Given the description of an element on the screen output the (x, y) to click on. 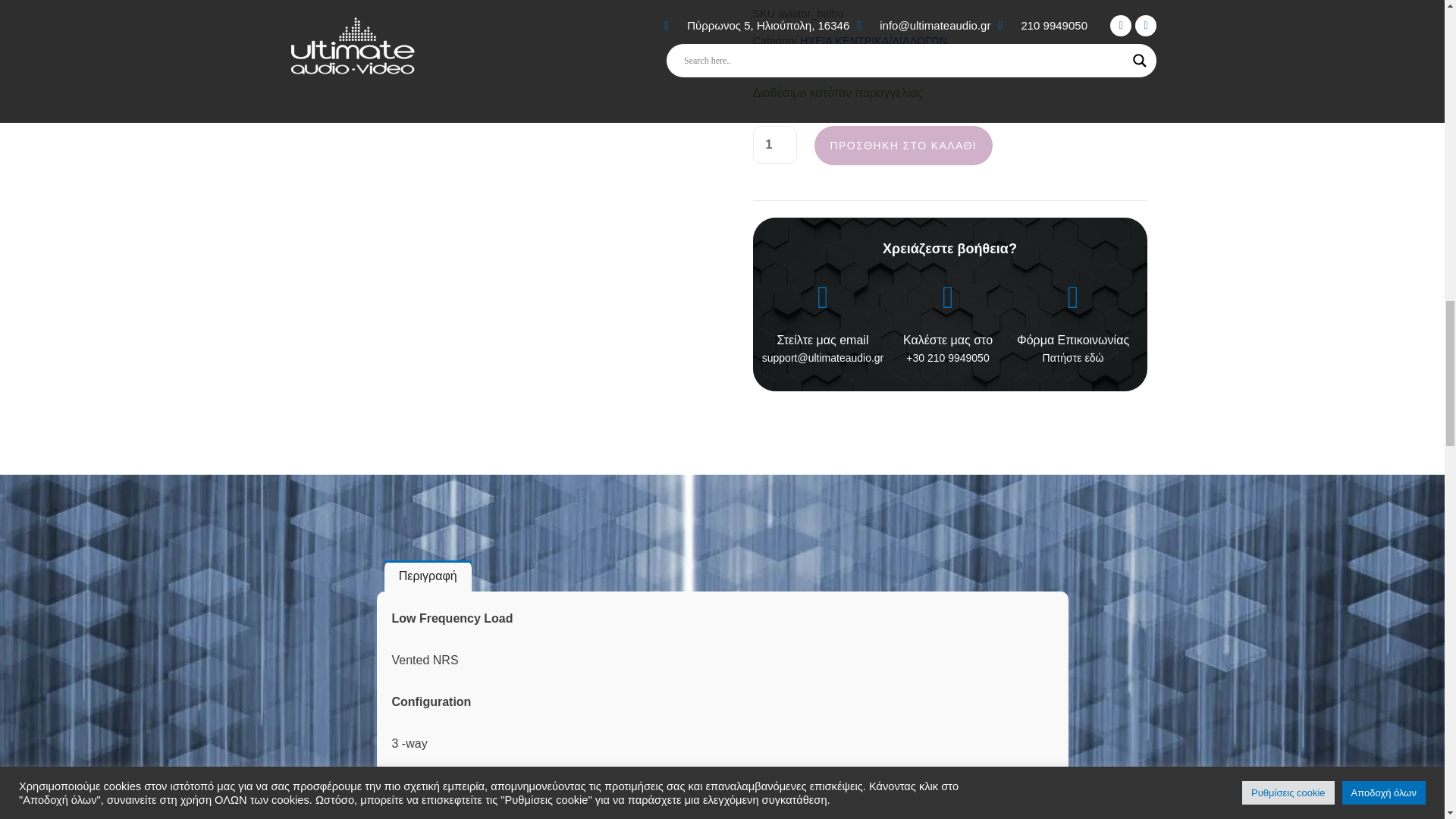
1 (774, 144)
